Given the description of an element on the screen output the (x, y) to click on. 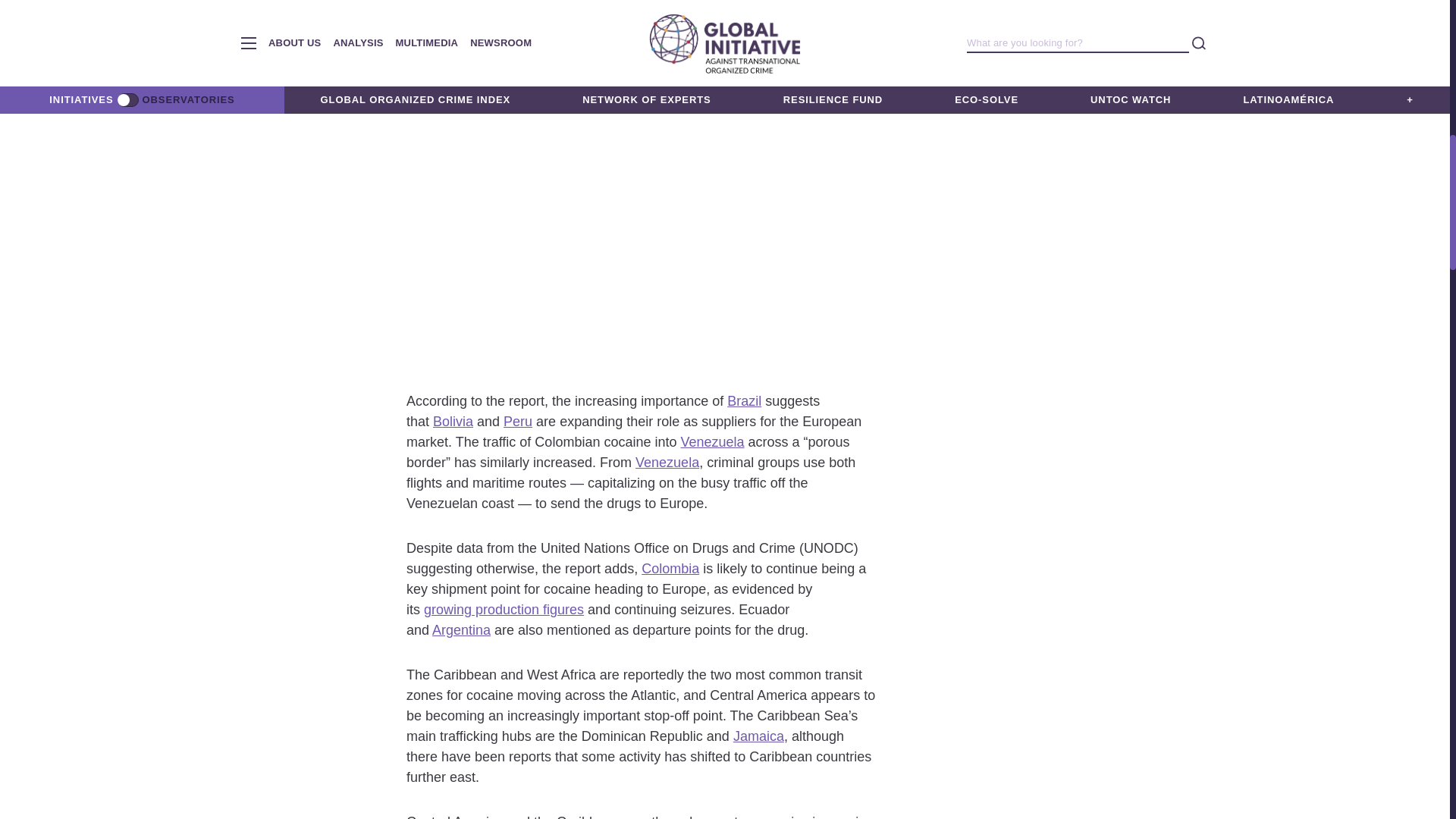
Link to the Venezuela landing page.  (711, 441)
Link to Colombia landing page. (670, 568)
Link to Bolivia tag.  (452, 421)
Link to Argentina tag.  (461, 630)
Link to the Brazil landing page.  (743, 400)
Link to the Venezuela landing page.  (666, 462)
Link to Jamaica tag.  (758, 735)
Link to Peru landing page.  (517, 421)
